Given the description of an element on the screen output the (x, y) to click on. 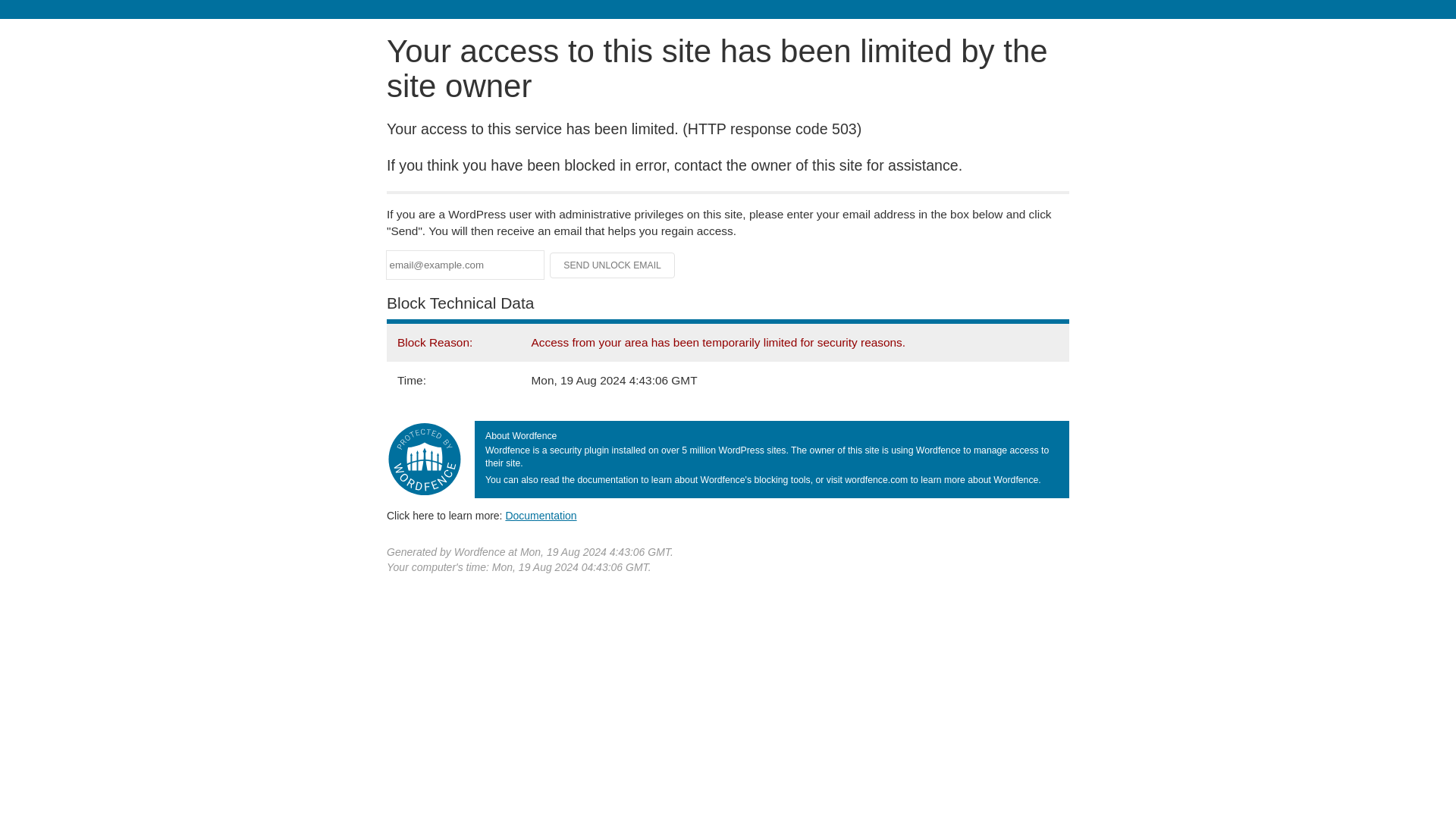
Send Unlock Email (612, 265)
Send Unlock Email (612, 265)
Documentation (540, 515)
